Given the description of an element on the screen output the (x, y) to click on. 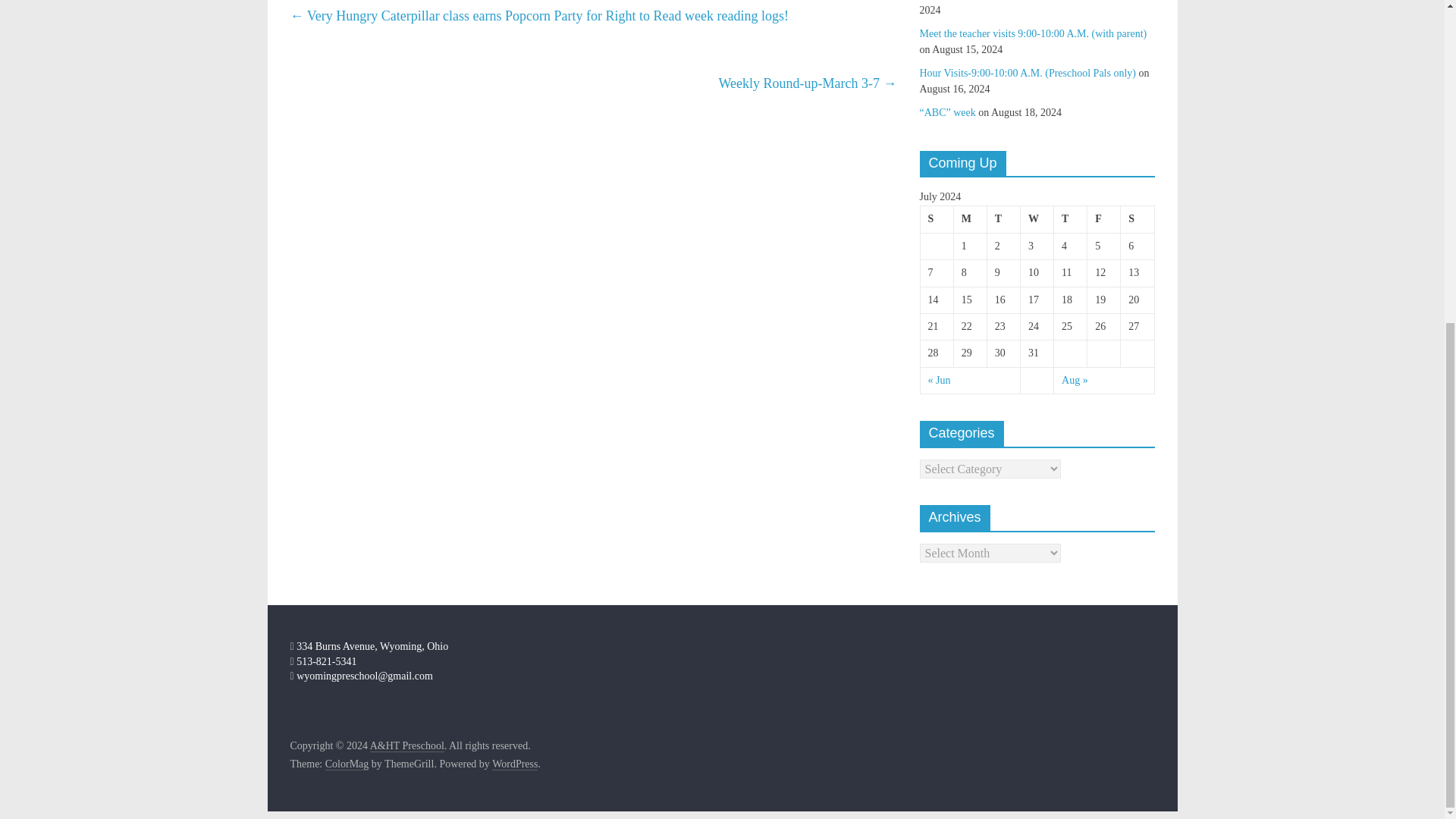
ColorMag (346, 764)
Saturday (1137, 219)
WordPress (514, 764)
Previous month (939, 379)
513-821-5341 (322, 661)
Thursday (1070, 219)
Tuesday (1003, 219)
Friday (1104, 219)
334 Burns Avenue, Wyoming, Ohio (368, 645)
Sunday (936, 219)
Wednesday (1036, 219)
Monday (970, 219)
